Given the description of an element on the screen output the (x, y) to click on. 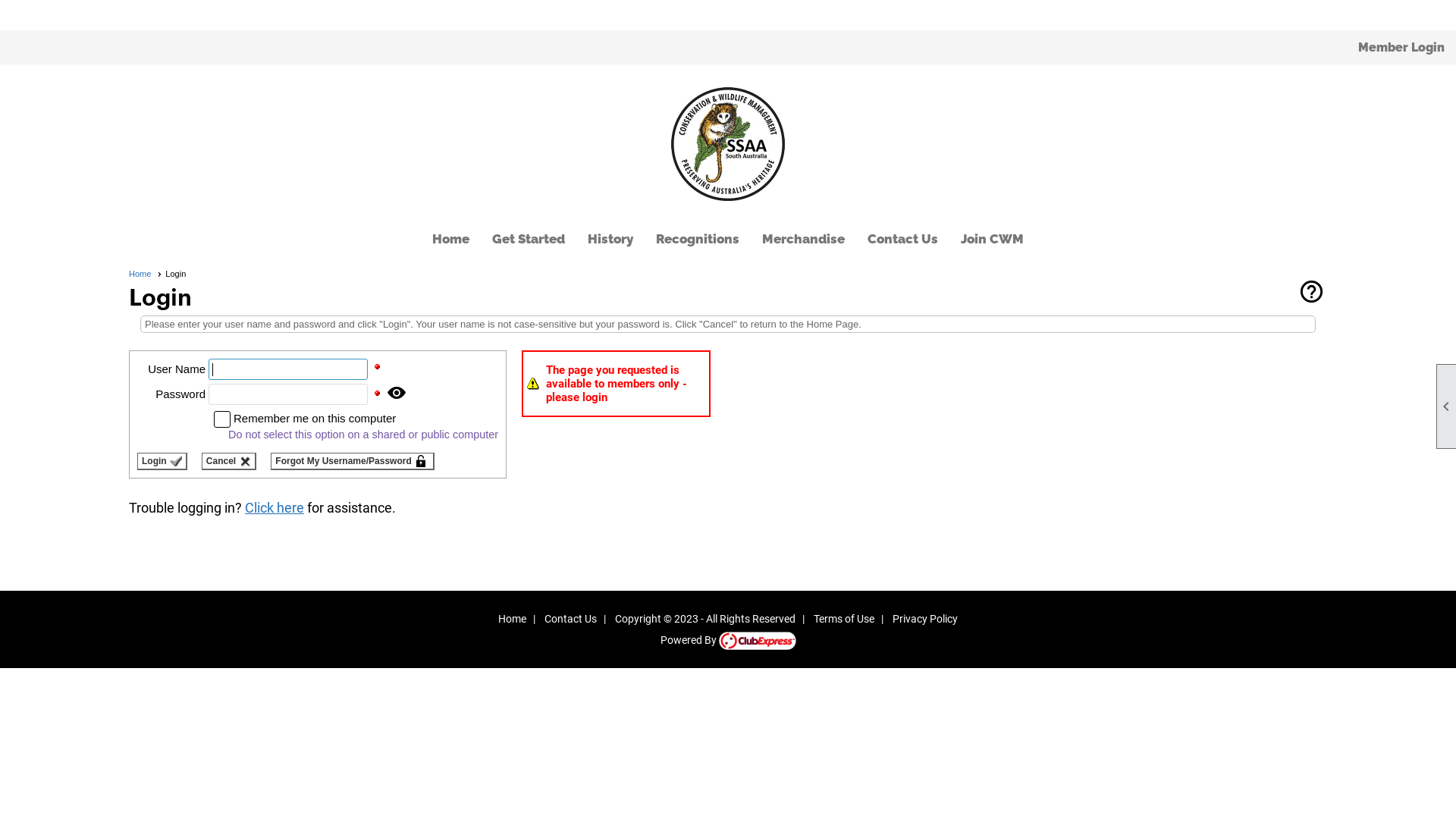
Home Element type: text (450, 238)
Cancel Element type: text (228, 461)
Terms of Use Element type: text (843, 618)
Forgot My Username/Password Element type: text (351, 461)
Home Element type: text (144, 273)
Contact Us Element type: text (570, 618)
Get Started Element type: text (528, 238)
Home Element type: text (512, 618)
Login Element type: text (162, 461)
Show Password Element type: hover (396, 392)
Join CWM Element type: text (992, 238)
Privacy Policy Element type: text (924, 618)
help_outline Element type: text (1311, 293)
Contact Us Element type: text (902, 238)
Powered By  Element type: text (727, 639)
History Element type: text (610, 238)
Merchandise Element type: text (803, 238)
Member Login Element type: text (1401, 46)
Click here Element type: text (274, 507)
Recognitions Element type: text (697, 238)
